Given the description of an element on the screen output the (x, y) to click on. 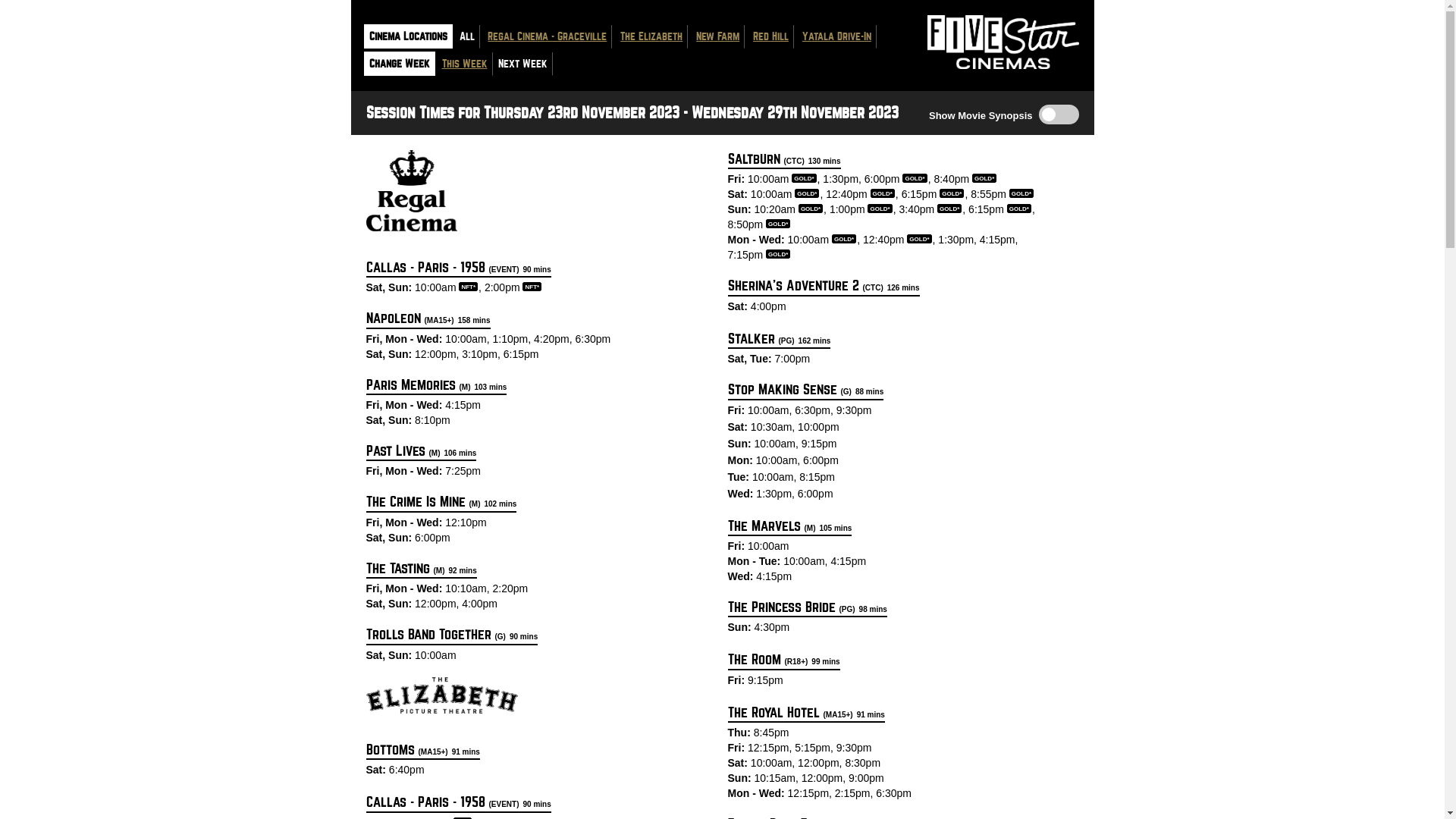
Regal Cinema - Graceville Element type: text (546, 36)
The Elizabeth Element type: text (651, 36)
New Farm Element type: text (717, 36)
Next Week Element type: text (522, 63)
This Week Element type: text (464, 63)
Red Hill Element type: text (770, 36)
All Element type: text (466, 36)
Yatala Drive-In Element type: text (836, 36)
